Given the description of an element on the screen output the (x, y) to click on. 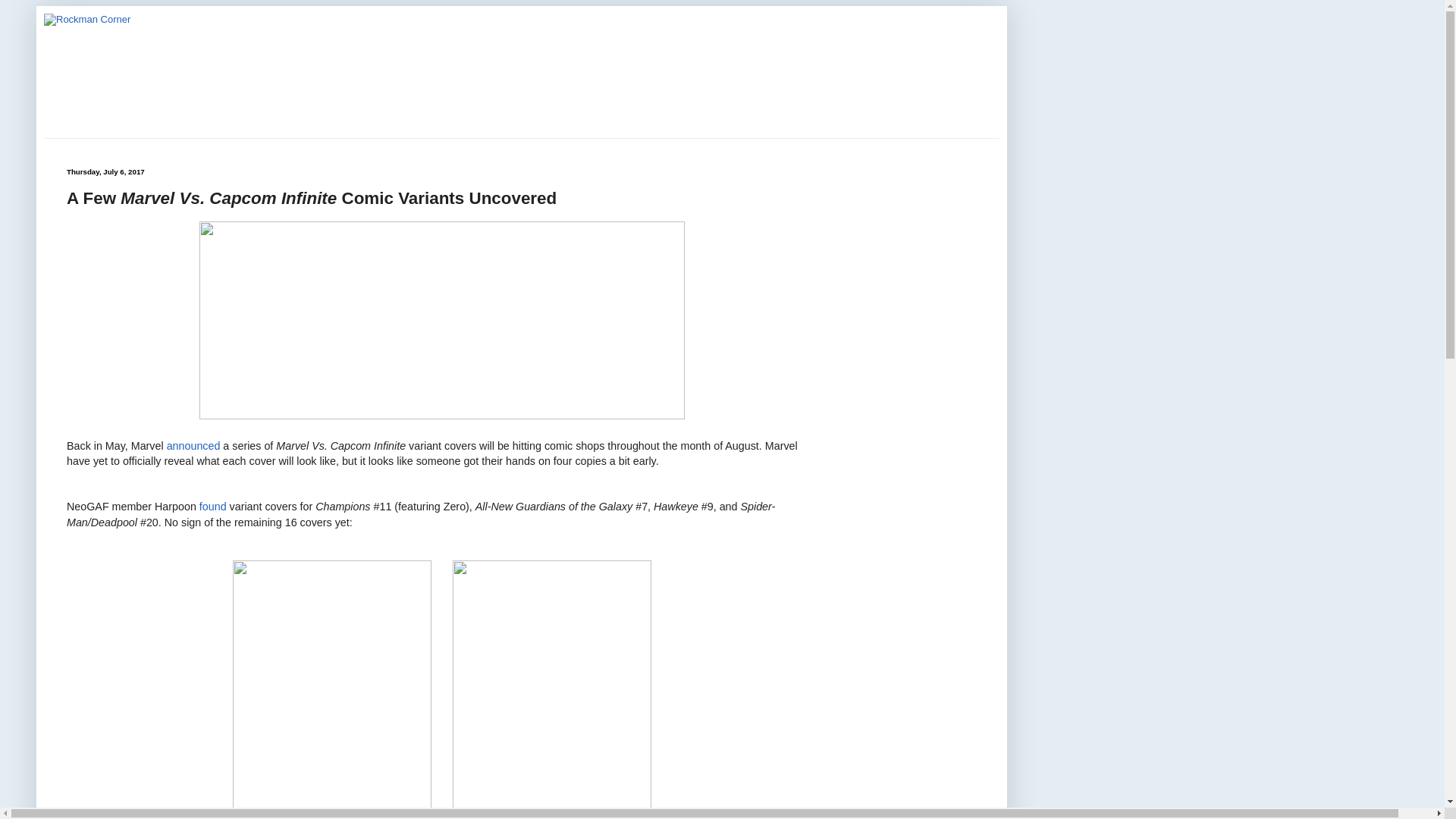
announced (194, 445)
found (213, 506)
